Given the description of an element on the screen output the (x, y) to click on. 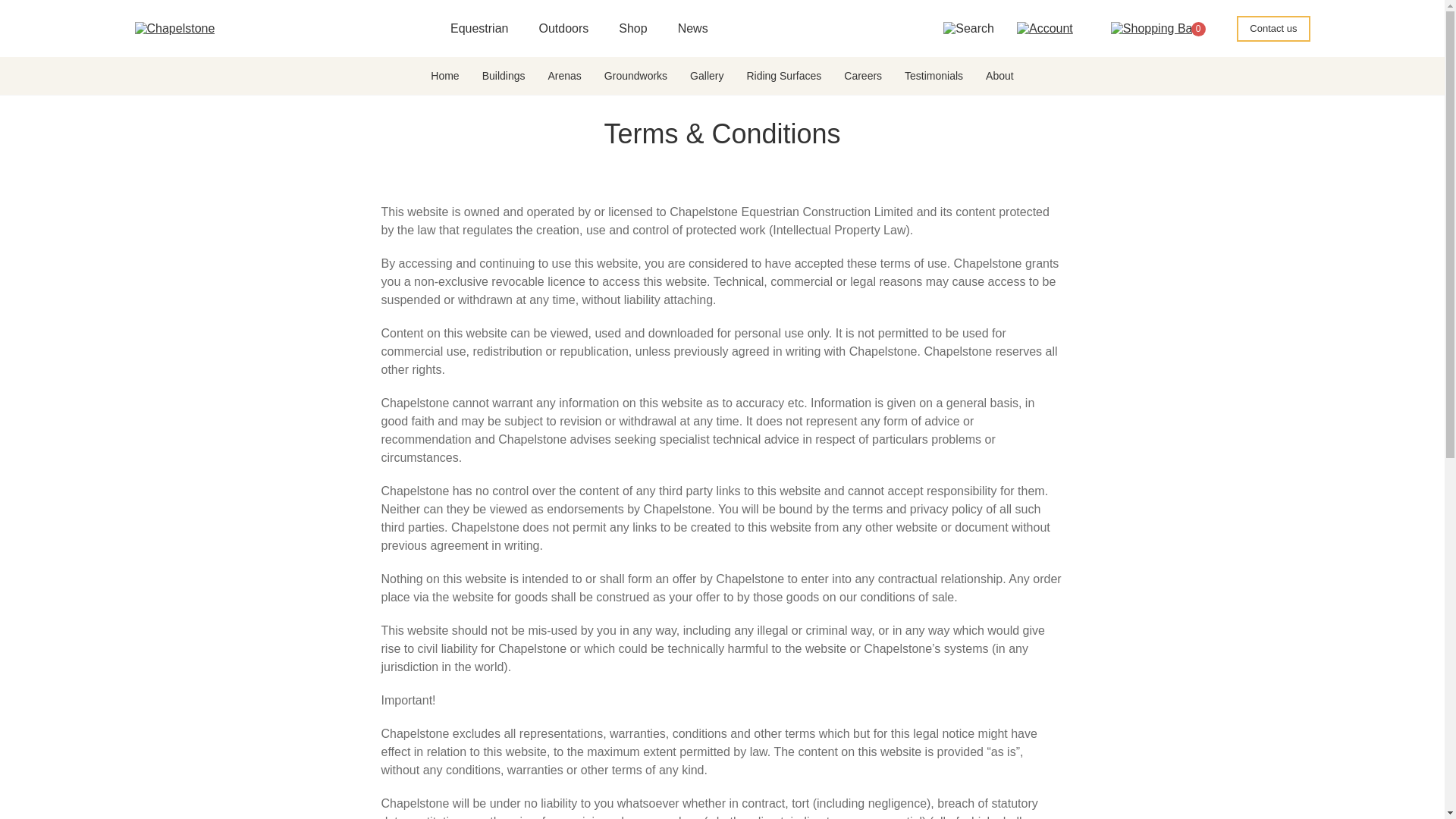
Contact us (1272, 27)
Account (1044, 27)
Go to Chapelstone Equestrian Construction. (149, 73)
Equestrian (478, 28)
Search (968, 27)
